Given the description of an element on the screen output the (x, y) to click on. 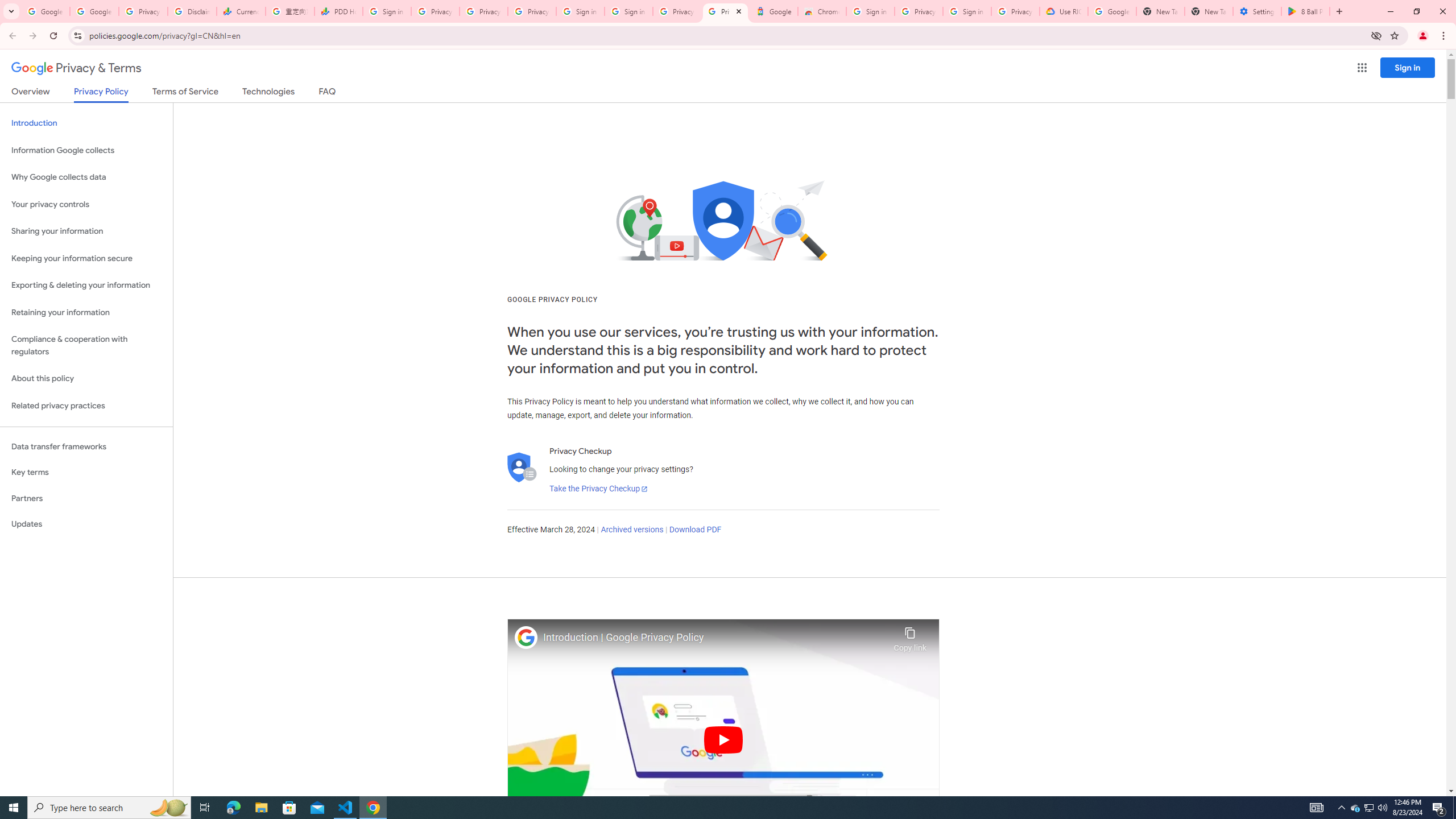
Play (723, 739)
Sign in - Google Accounts (628, 11)
New Tab (1208, 11)
Settings - System (1257, 11)
8 Ball Pool - Apps on Google Play (1305, 11)
